Given the description of an element on the screen output the (x, y) to click on. 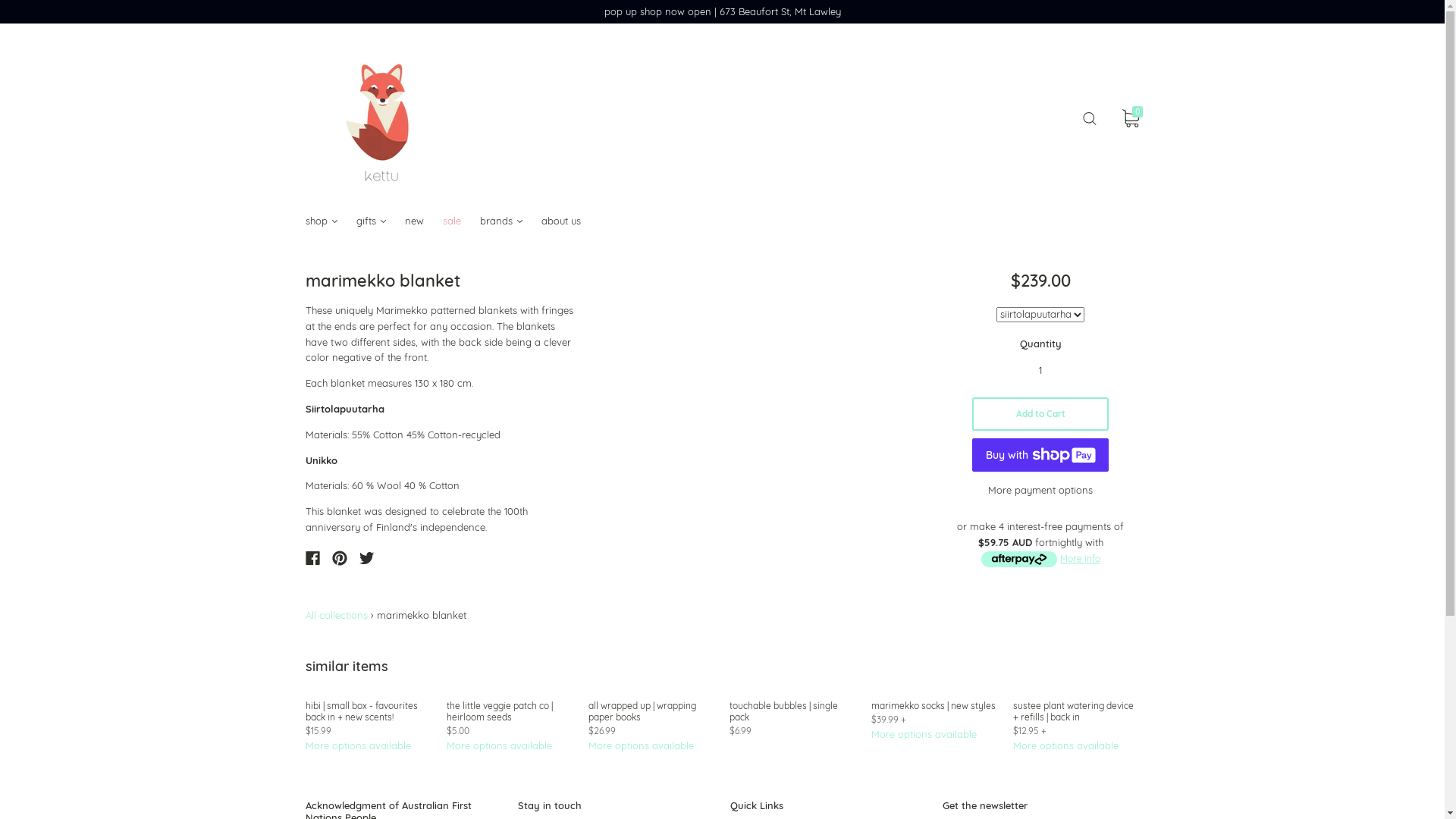
hibi | small box - favourites back in + new scents! Element type: text (360, 710)
More info Element type: text (1080, 558)
gifts Element type: text (380, 221)
shop Element type: text (329, 221)
More options available Element type: text (499, 745)
about us Element type: text (570, 221)
0 Element type: text (1130, 118)
More options available Element type: text (640, 745)
sale Element type: text (461, 221)
the little veggie patch co | heirloom seeds Element type: text (499, 710)
All collections Element type: text (335, 614)
Add to Cart Element type: text (1040, 413)
Facebook Element type: hover (311, 557)
More options available Element type: text (1065, 745)
More options available Element type: text (357, 745)
touchable bubbles | single pack Element type: text (783, 710)
Pinterest Element type: hover (339, 557)
new Element type: text (423, 221)
More payment options Element type: text (1040, 489)
all wrapped up | wrapping paper books Element type: text (642, 710)
marimekko socks | new styles Element type: text (933, 705)
sustee plant watering device + refills | back in Element type: text (1073, 710)
brands Element type: text (509, 221)
Twitter Element type: hover (366, 557)
More options available Element type: text (923, 734)
